Given the description of an element on the screen output the (x, y) to click on. 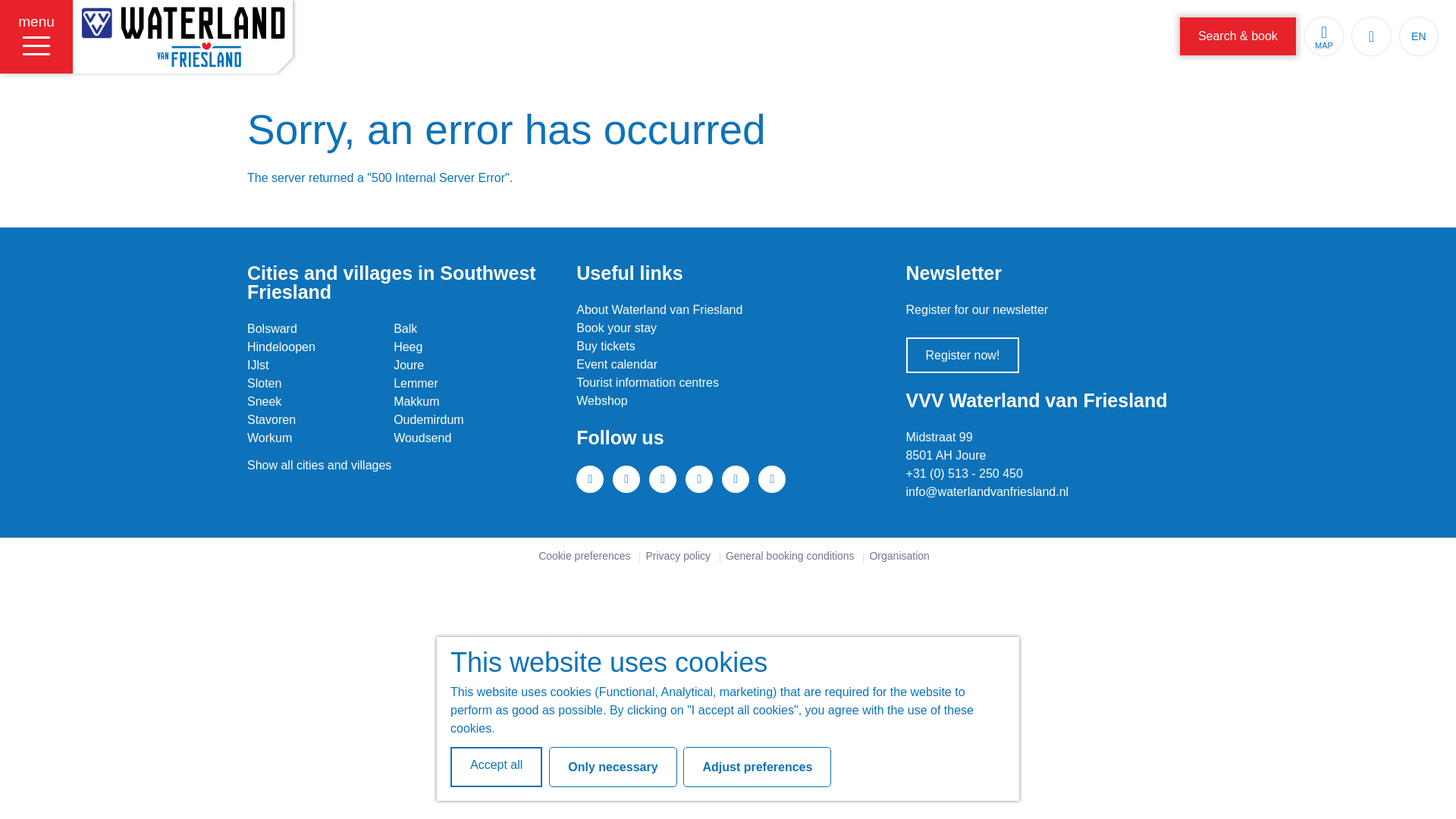
Adjust preferences (756, 766)
Accept all (495, 766)
menu (36, 36)
Go to the homepage WaterlandVanFriesland.nl (182, 36)
Only necessary (612, 766)
Map (1323, 36)
